Given the description of an element on the screen output the (x, y) to click on. 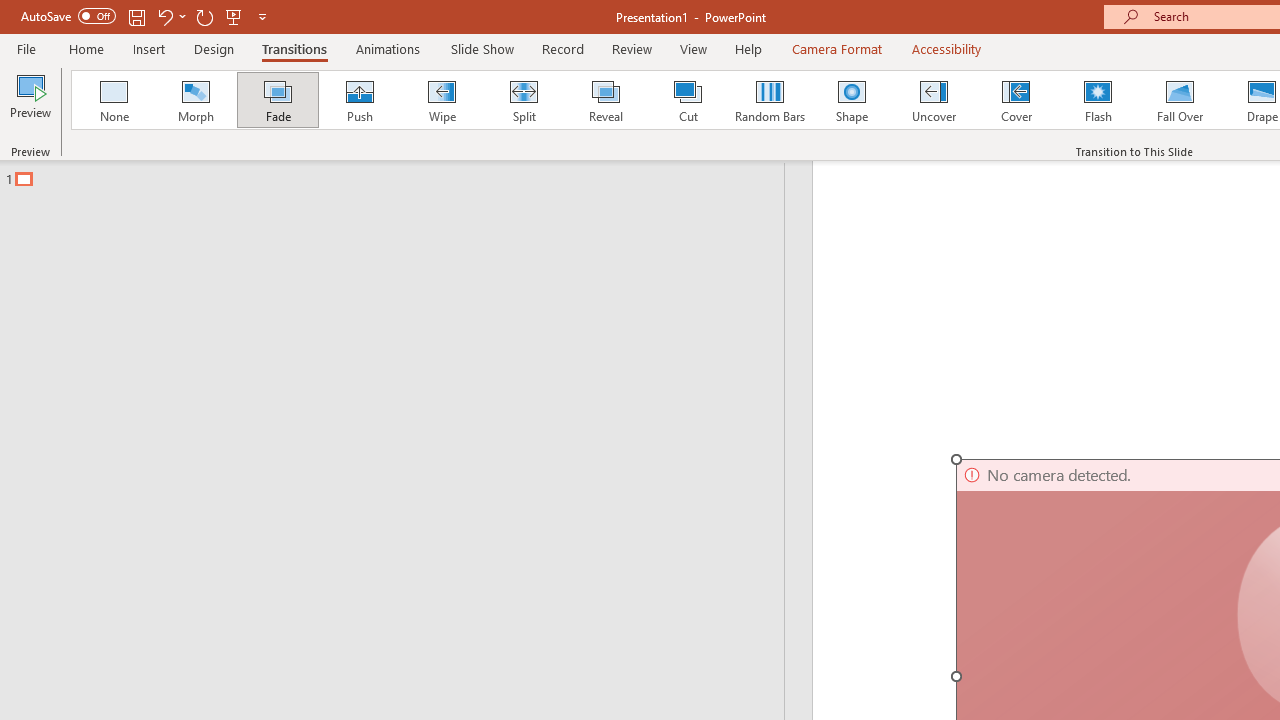
Morph (195, 100)
Split (523, 100)
Random Bars (770, 100)
Flash (1098, 100)
Wipe (441, 100)
Push (359, 100)
Camera Format (836, 48)
Outline (401, 174)
